Given the description of an element on the screen output the (x, y) to click on. 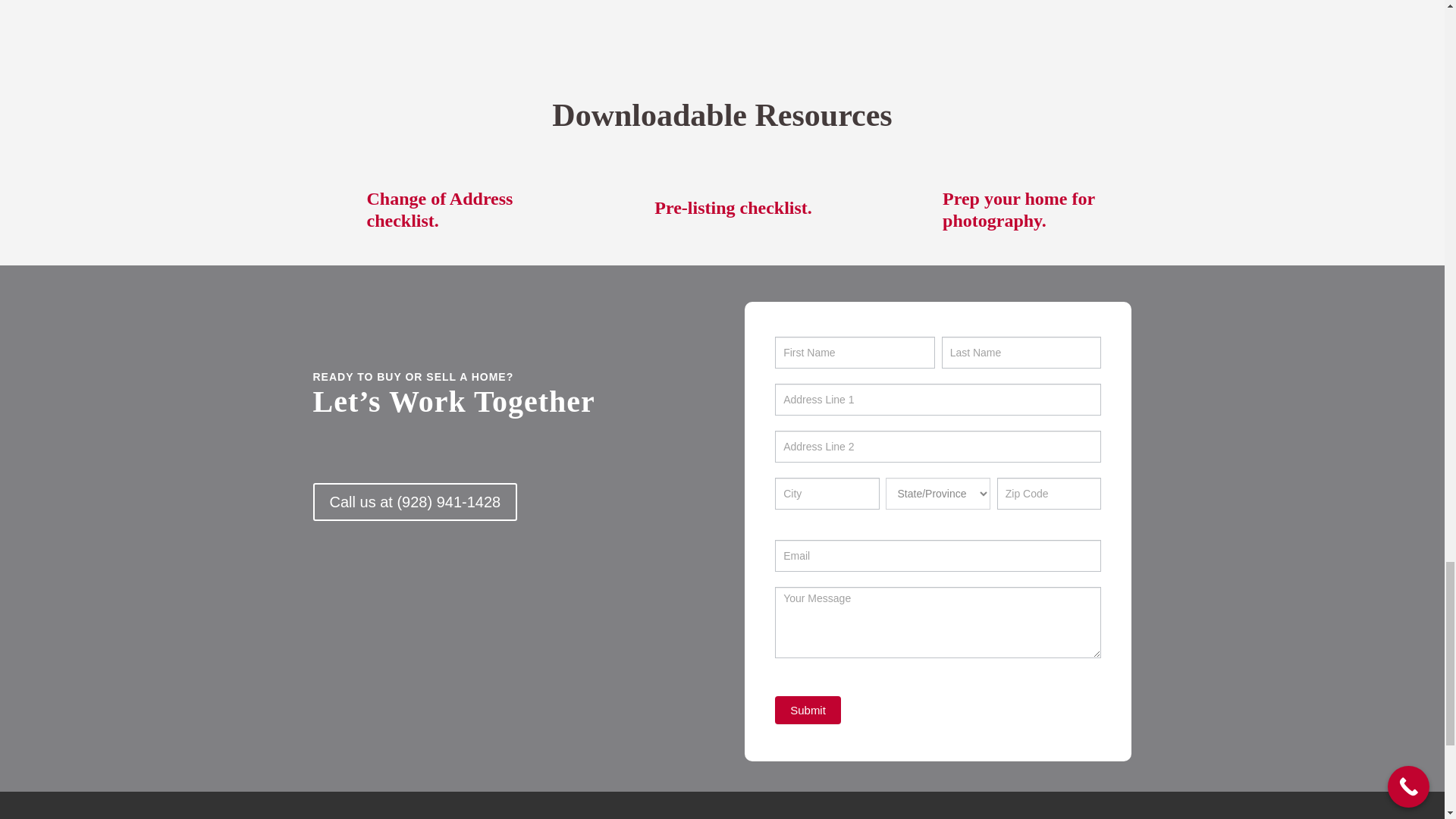
Submit (807, 709)
